Given the description of an element on the screen output the (x, y) to click on. 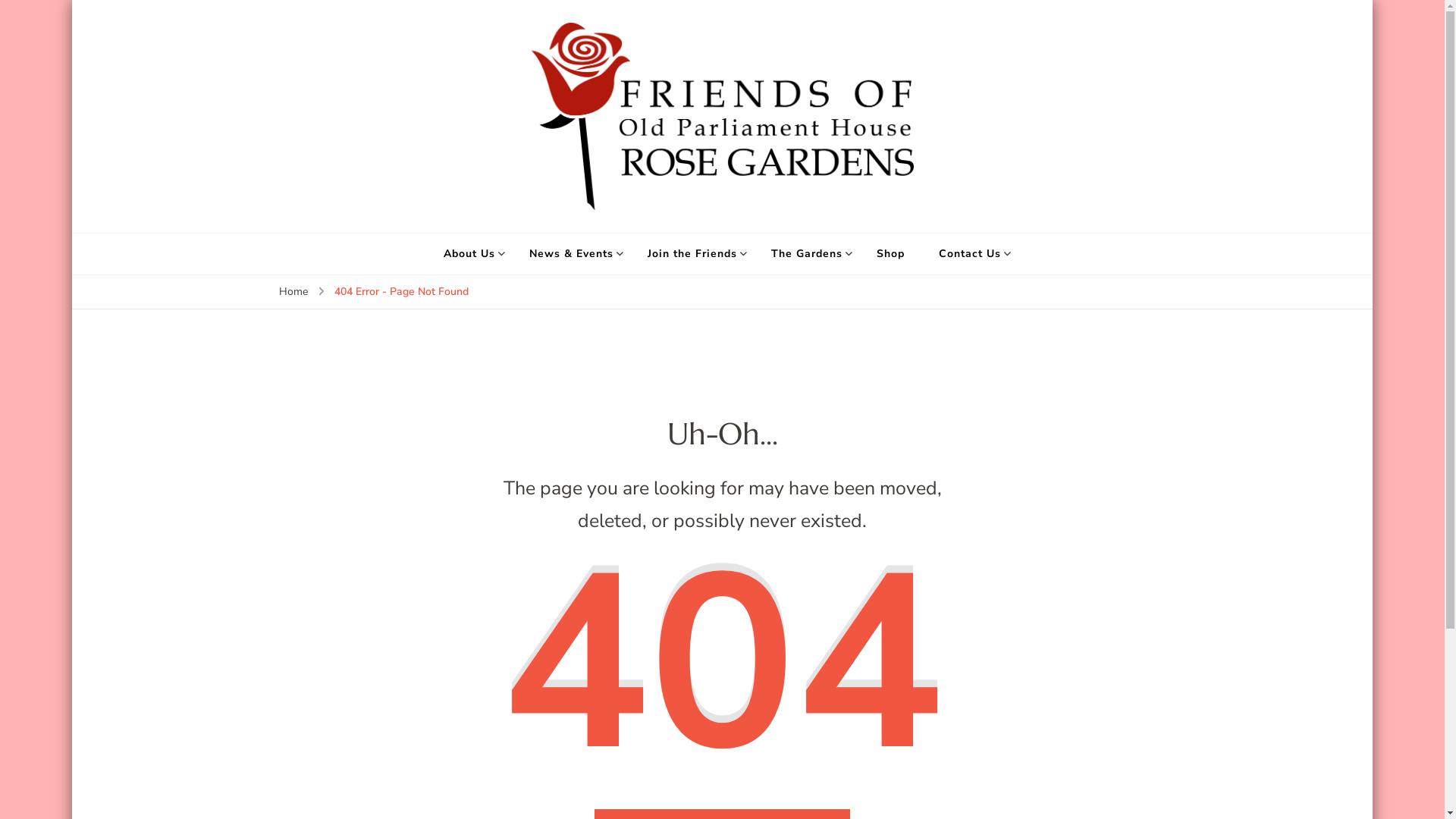
Shop Element type: text (890, 253)
About Us Element type: text (469, 253)
News & Events Element type: text (571, 253)
Home Element type: text (293, 291)
The Gardens Element type: text (806, 253)
Join the Friends Element type: text (692, 253)
Contact Us Element type: text (969, 253)
Friends of Old Parliament House Rose Gardens Element type: text (959, 221)
